Given the description of an element on the screen output the (x, y) to click on. 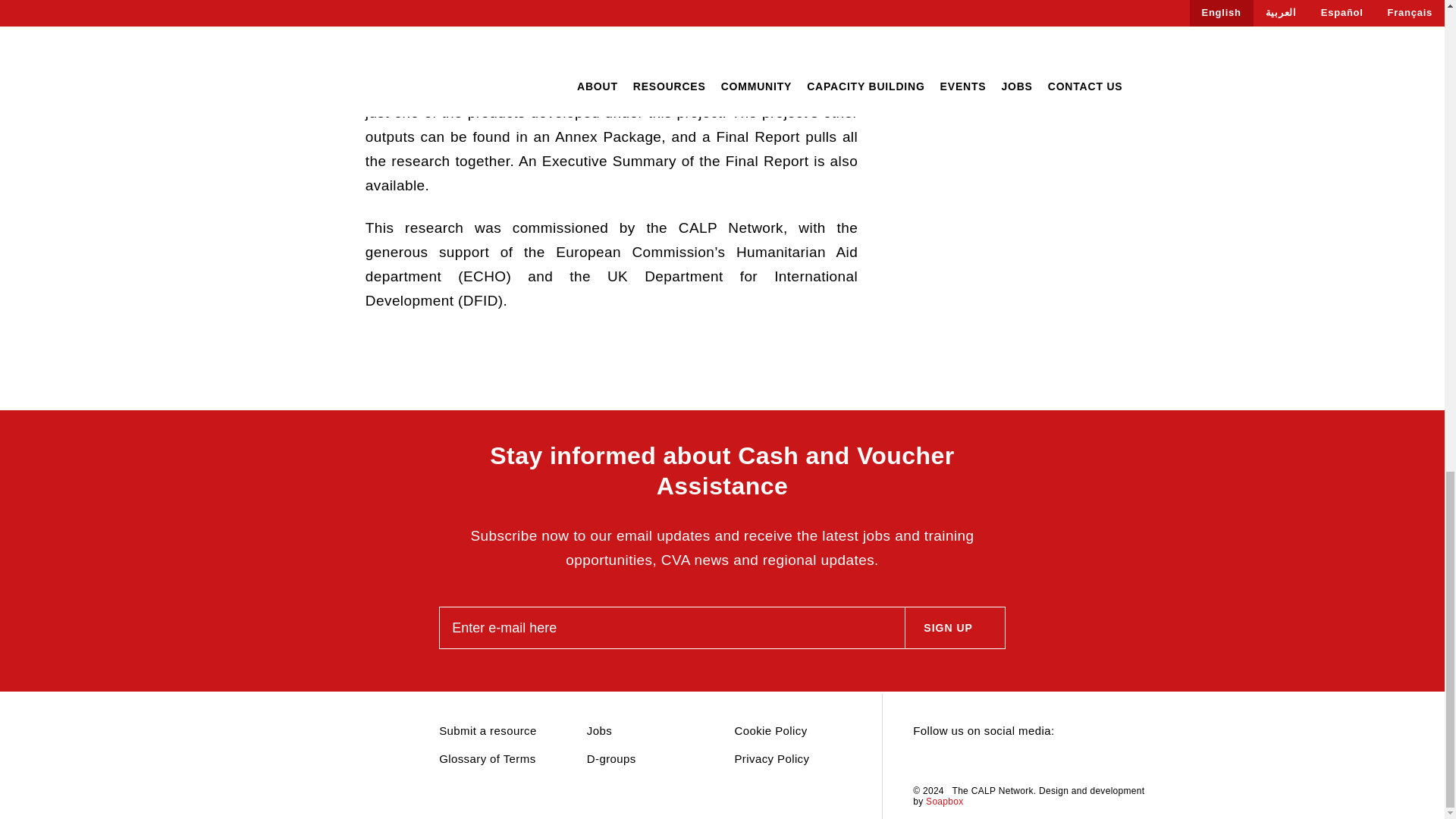
Twitter (920, 761)
YouTube (1001, 761)
Facebook (973, 761)
LinkedIn (947, 761)
